Given the description of an element on the screen output the (x, y) to click on. 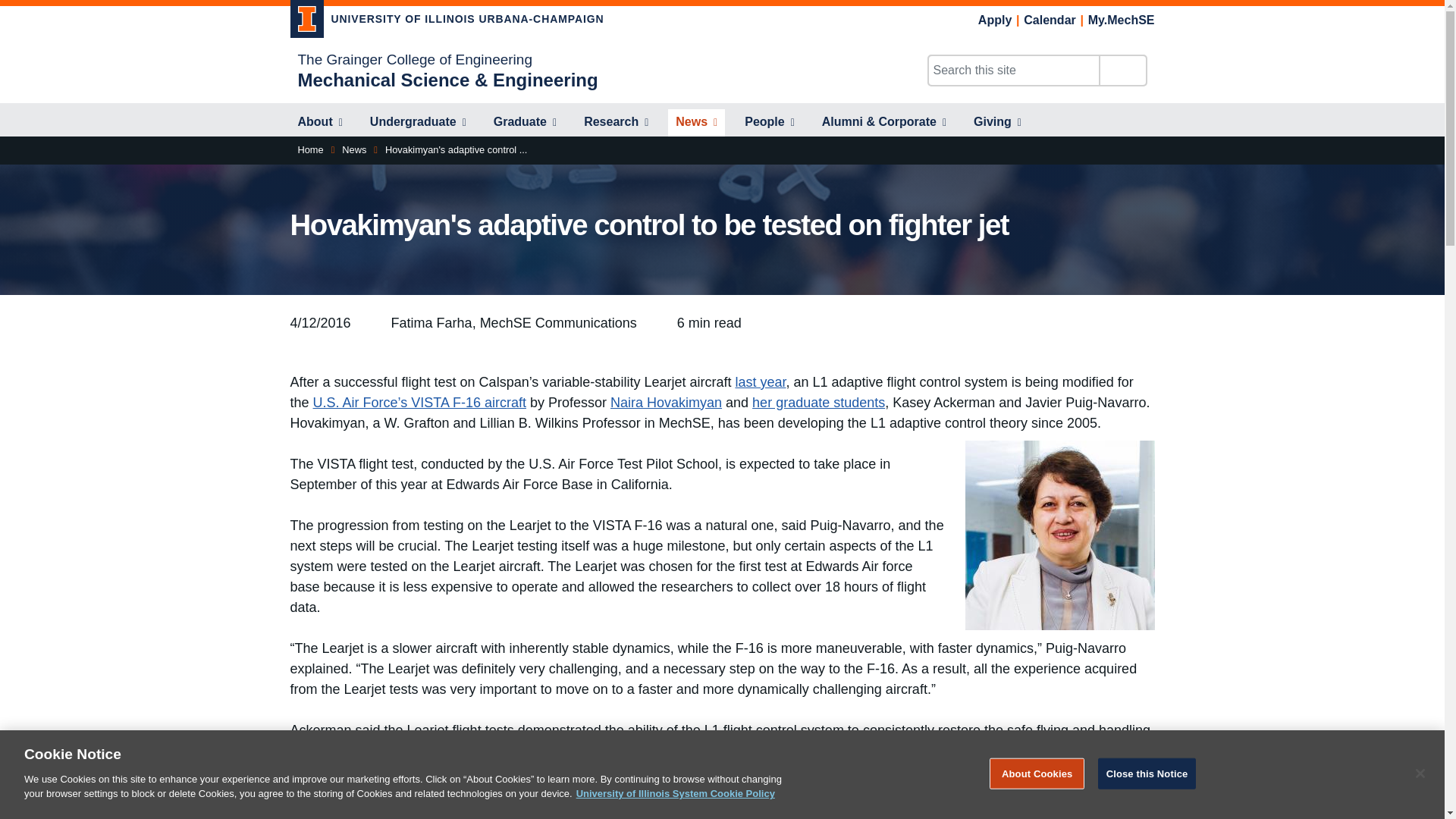
My.MechSE (1120, 19)
Undergraduate (418, 122)
About (319, 122)
Apply (994, 19)
Calendar (1049, 19)
UNIVERSITY OF ILLINOIS URBANA-CHAMPAIGN (446, 21)
The Grainger College of Engineering (414, 59)
Search (1121, 70)
Hovakimyan's adaptive control to be tested on fighter jet (456, 149)
